Given the description of an element on the screen output the (x, y) to click on. 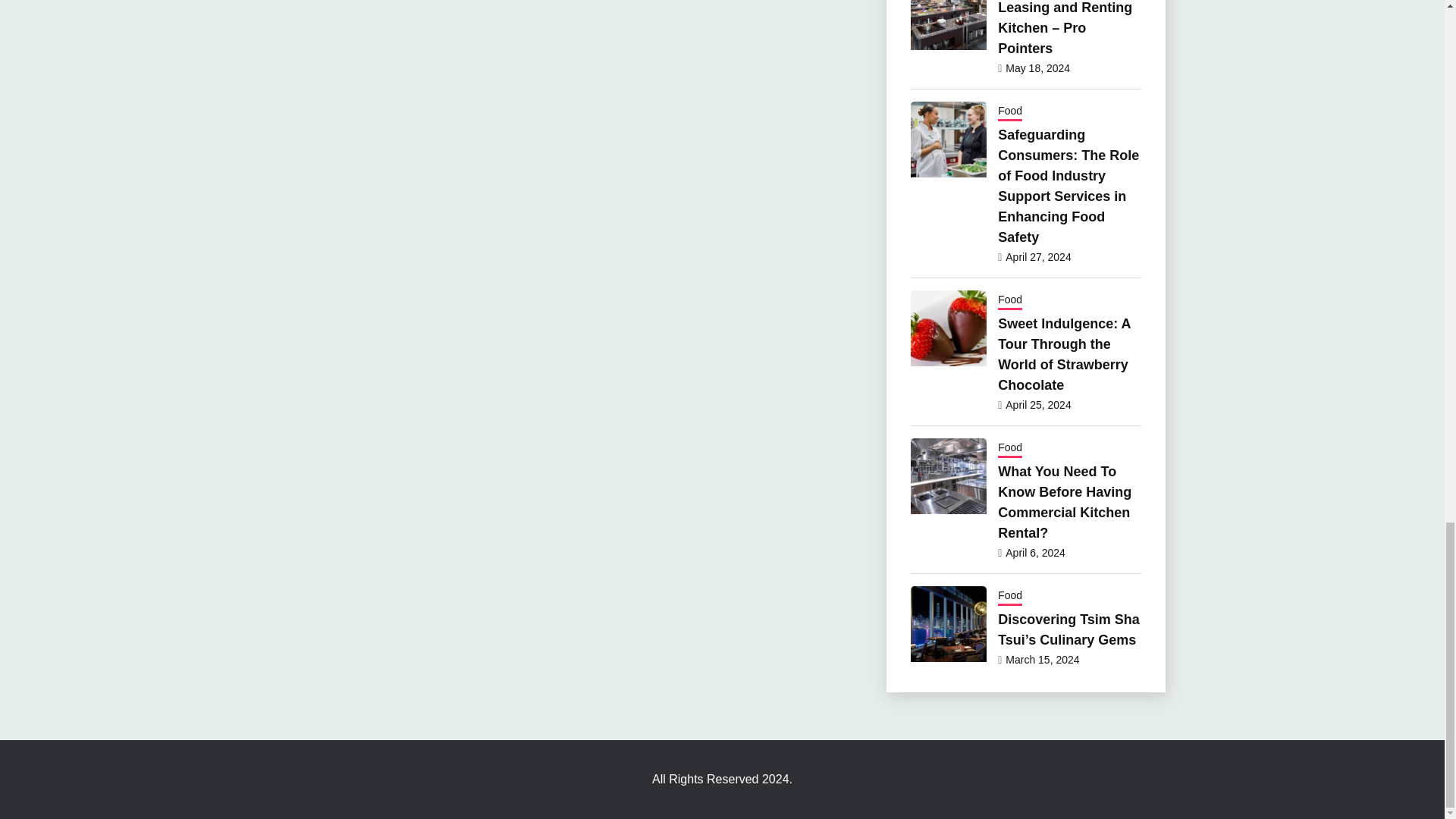
May 18, 2024 (1038, 68)
April 27, 2024 (1038, 256)
Food (1009, 112)
